Given the description of an element on the screen output the (x, y) to click on. 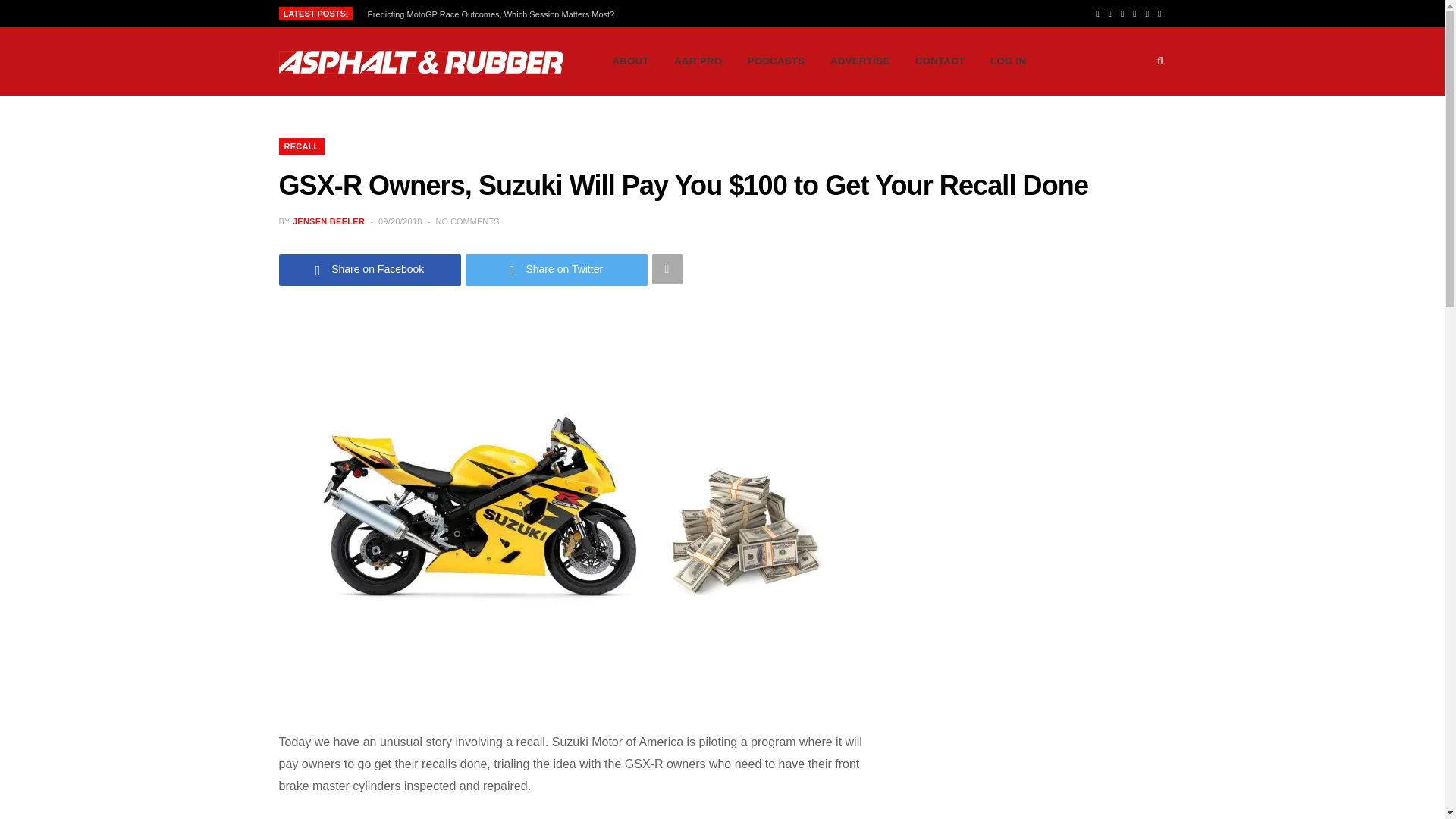
CONTACT (940, 61)
PODCASTS (776, 61)
Share on Twitter (556, 269)
Posts by Jensen Beeler (328, 221)
RECALL (301, 146)
Share on Facebook (370, 269)
Predicting MotoGP Race Outcomes, Which Session Matters Most? (495, 14)
Share on Facebook (370, 269)
Predicting MotoGP Race Outcomes, Which Session Matters Most? (495, 14)
Share on Twitter (556, 269)
NO COMMENTS (467, 221)
JENSEN BEELER (328, 221)
ADVERTISE (859, 61)
